Given the description of an element on the screen output the (x, y) to click on. 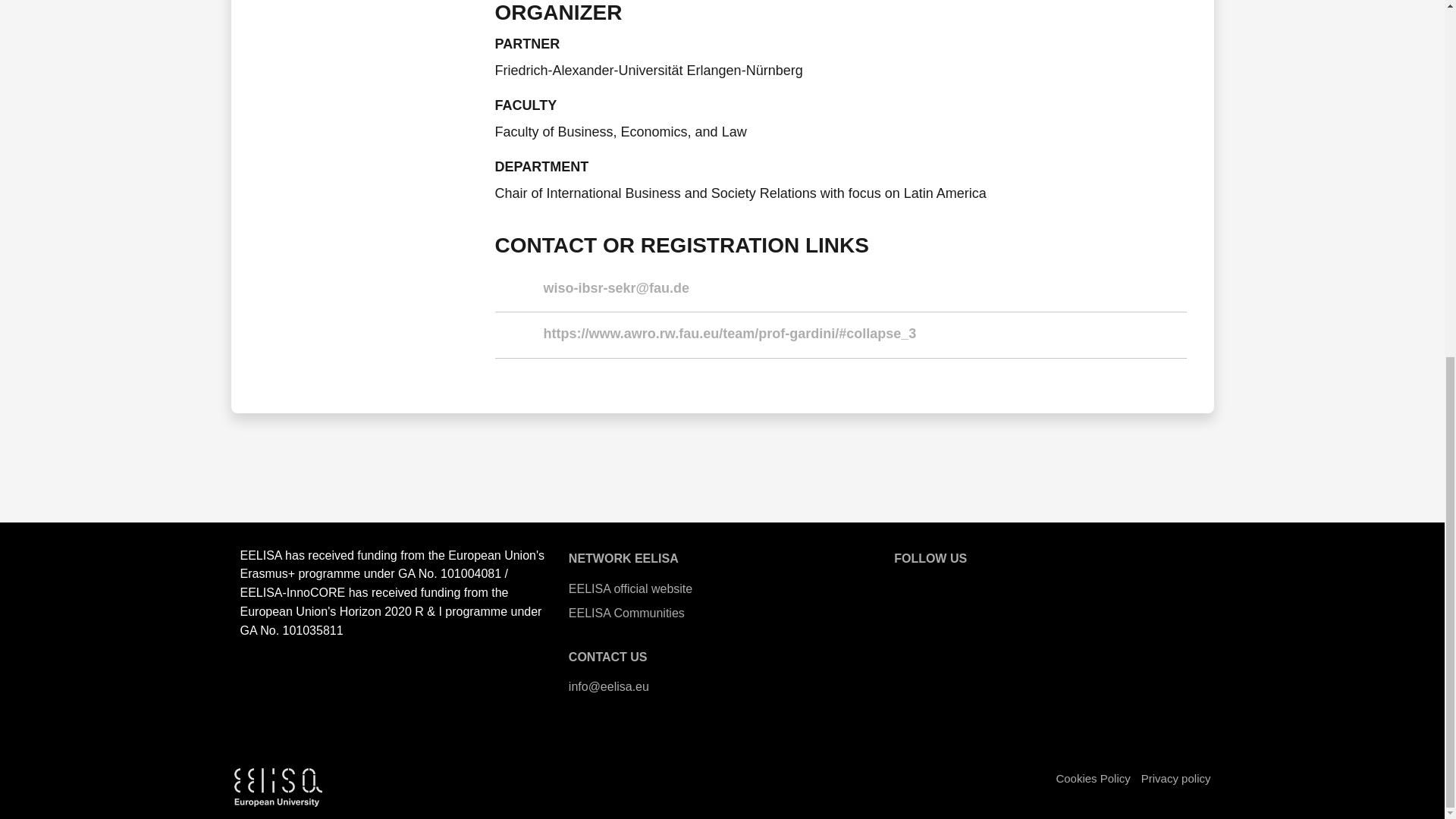
EELISA Website (908, 585)
Cookie-Policy (1092, 778)
Go to page: Follow us (929, 558)
Facebook (990, 585)
EELISA Website (908, 585)
EELISA Communities (722, 613)
CONTACT US (608, 656)
Linkedin (1071, 585)
EELISA official website (722, 589)
Twitter (949, 585)
Privacy policy (1176, 778)
link to url: EELISA Homepage  (722, 589)
Logo EELISA (276, 787)
NETWORK EELISA (623, 558)
Privacy-Cookies (1176, 778)
